Given the description of an element on the screen output the (x, y) to click on. 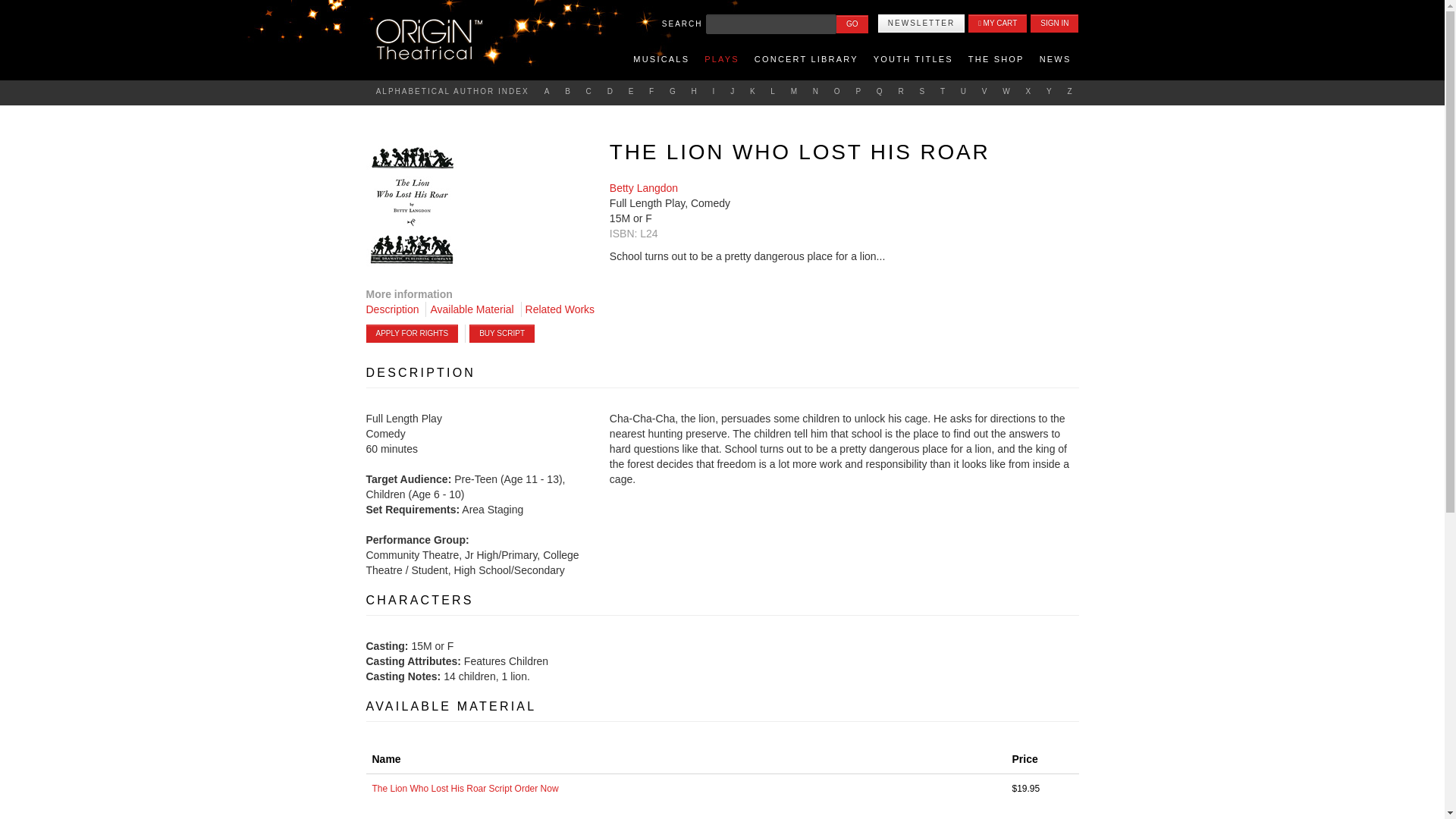
Z (1069, 90)
B (567, 90)
F (652, 90)
I (714, 90)
A (547, 90)
Betty Langdon (644, 187)
NEWS (1055, 58)
H (694, 90)
X (1028, 90)
MY CART (997, 23)
T (943, 90)
PLAYS (721, 58)
W (1006, 90)
E (631, 90)
P (858, 90)
